Given the description of an element on the screen output the (x, y) to click on. 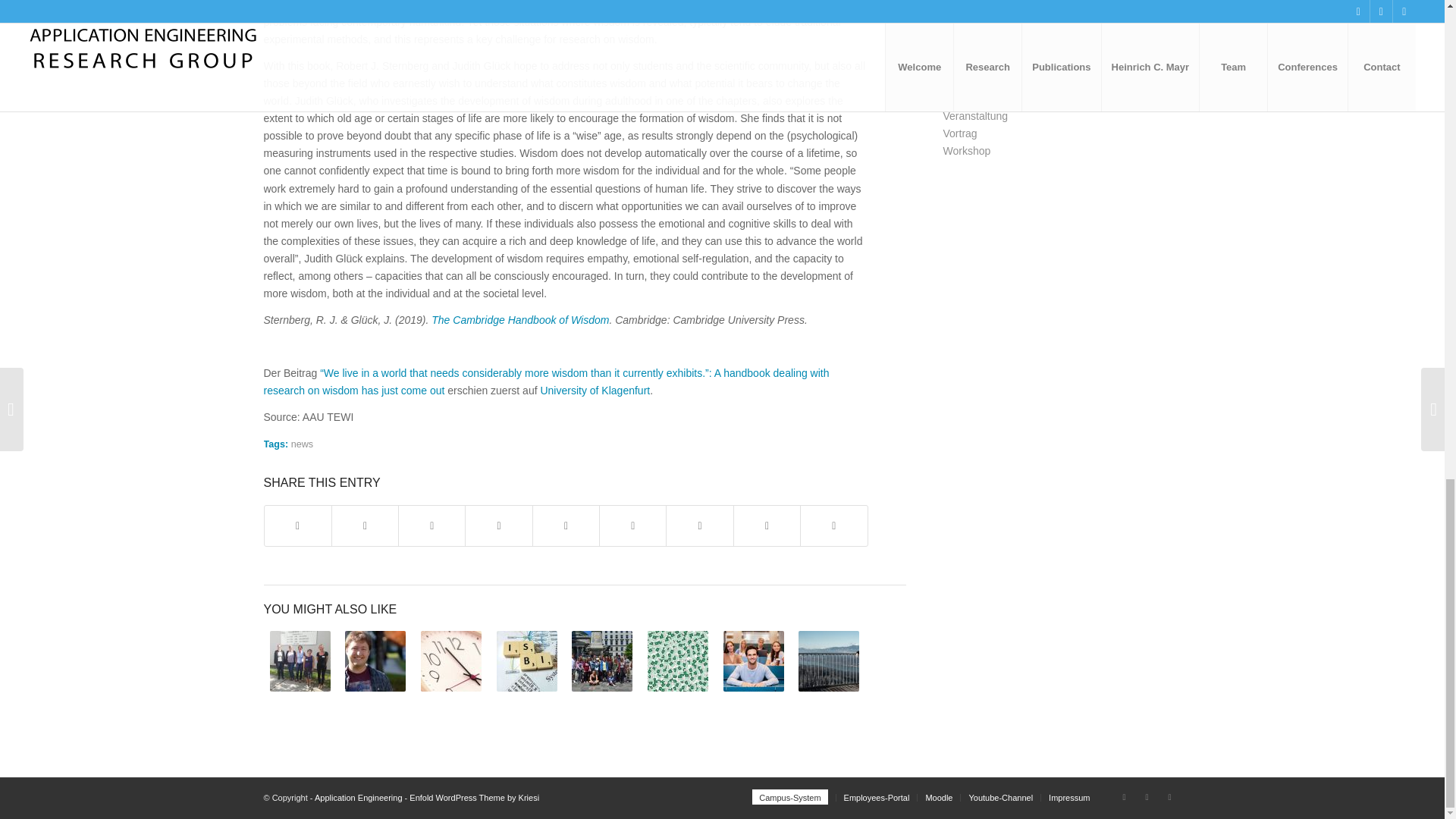
University of Klagenfurt (594, 390)
news (302, 443)
The Cambridge Handbook of Wisdom (519, 319)
